Given the description of an element on the screen output the (x, y) to click on. 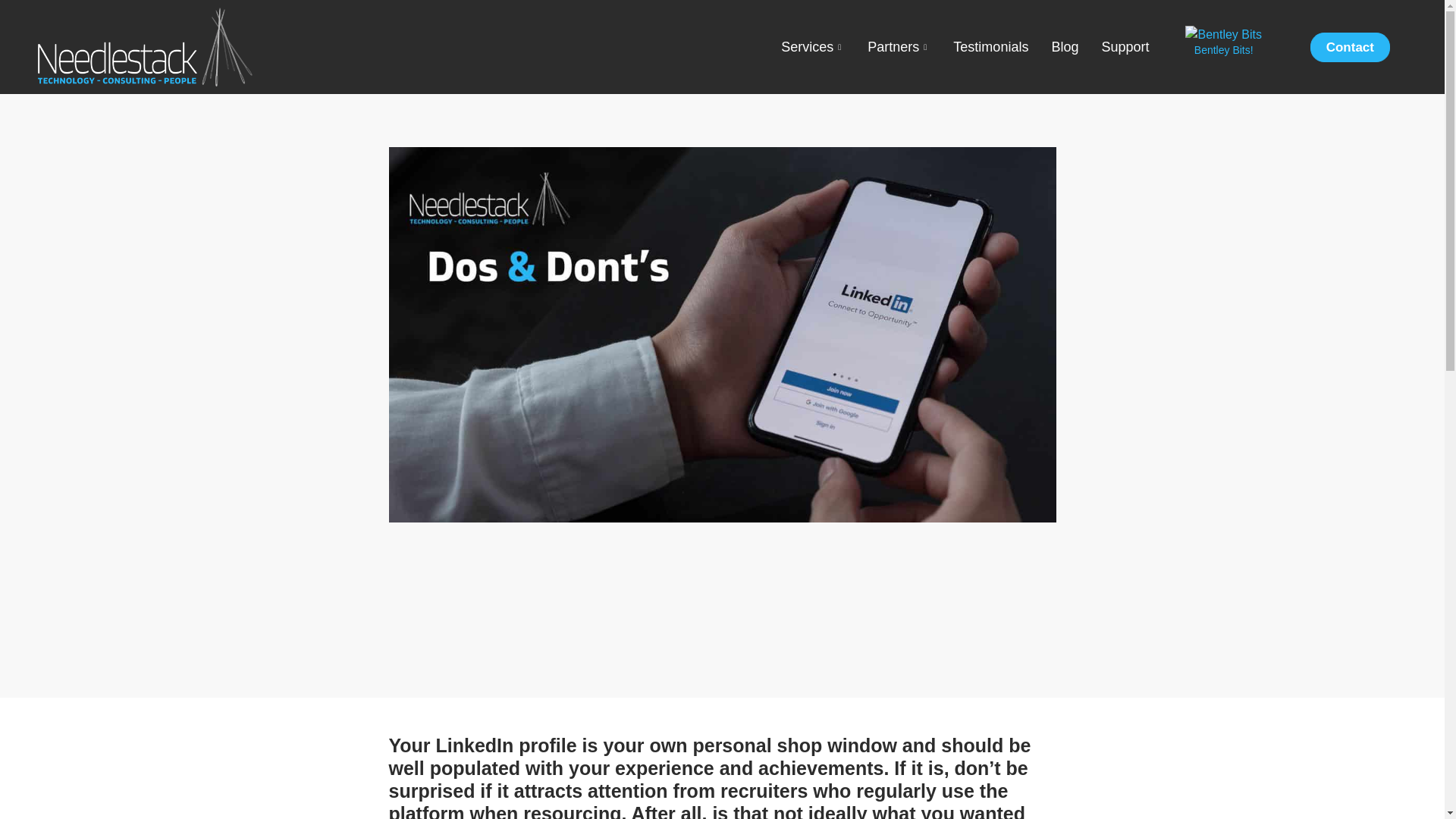
Services (813, 46)
Testimonials (990, 46)
Bentley-Bits (1222, 34)
Bentley Bits! (1223, 50)
Partners (899, 46)
Support (1124, 46)
Contact (1350, 46)
